Given the description of an element on the screen output the (x, y) to click on. 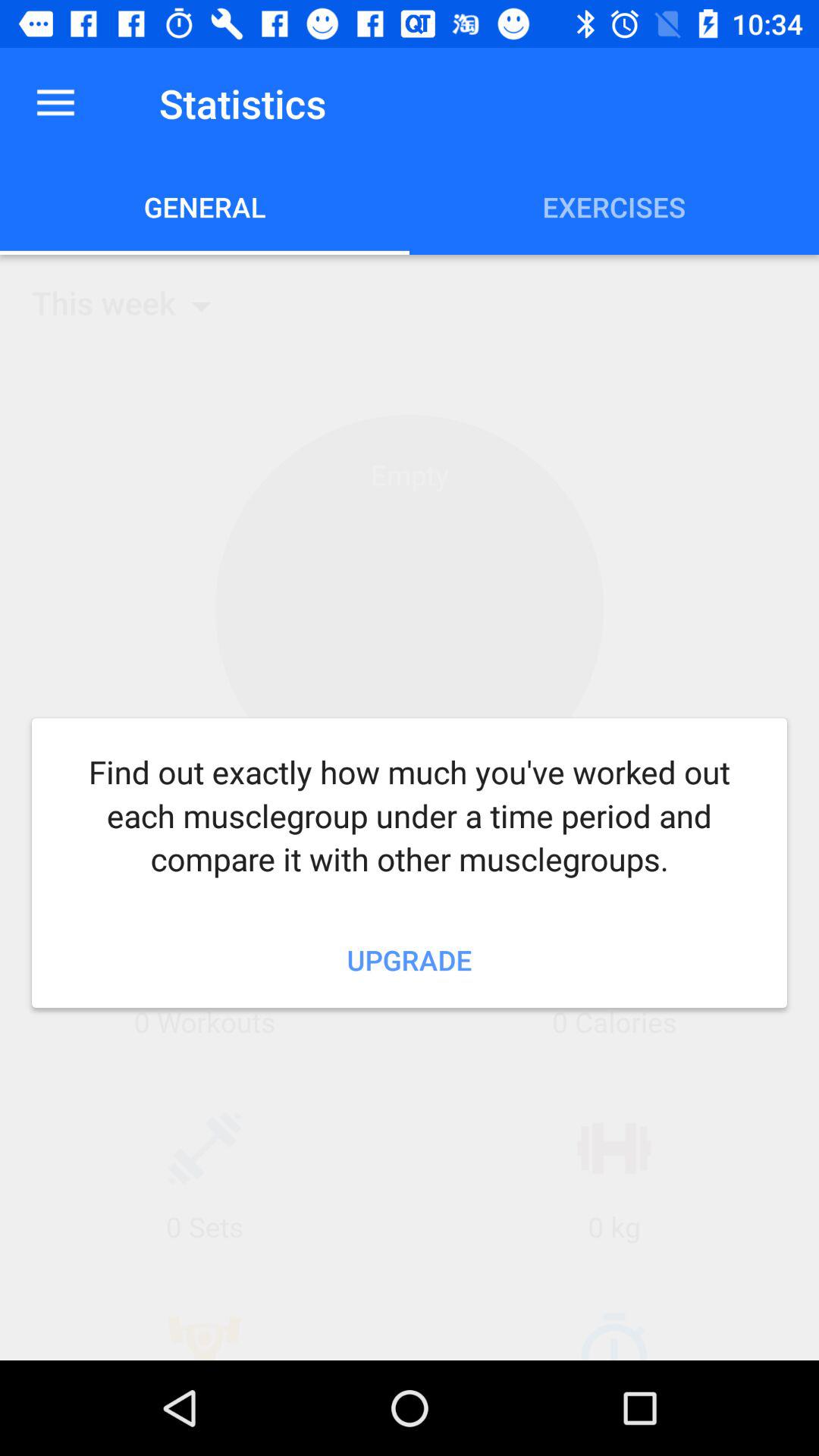
select icon above general (55, 103)
